Given the description of an element on the screen output the (x, y) to click on. 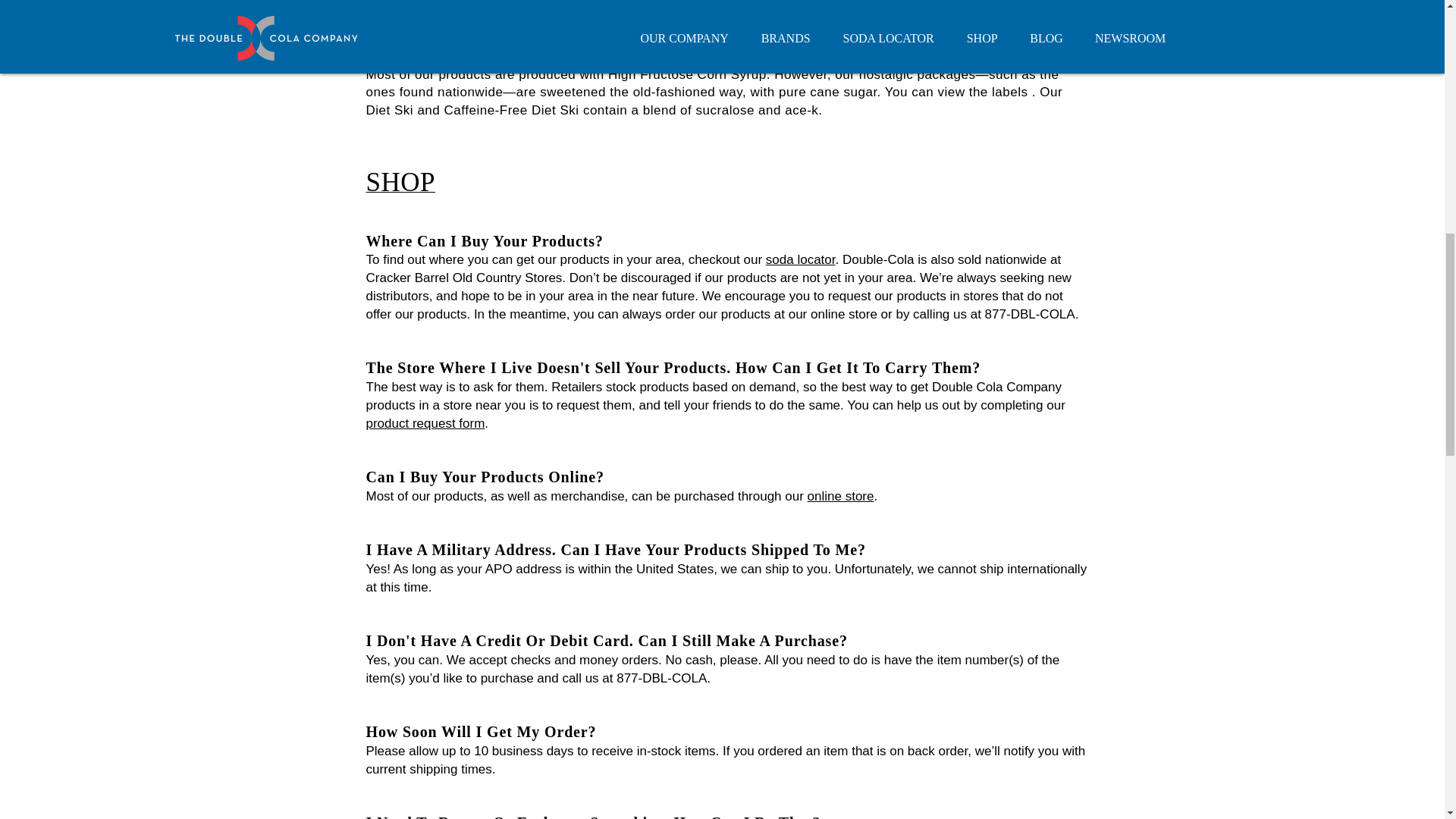
product request form (424, 423)
soda locator (800, 259)
online store (841, 495)
